Given the description of an element on the screen output the (x, y) to click on. 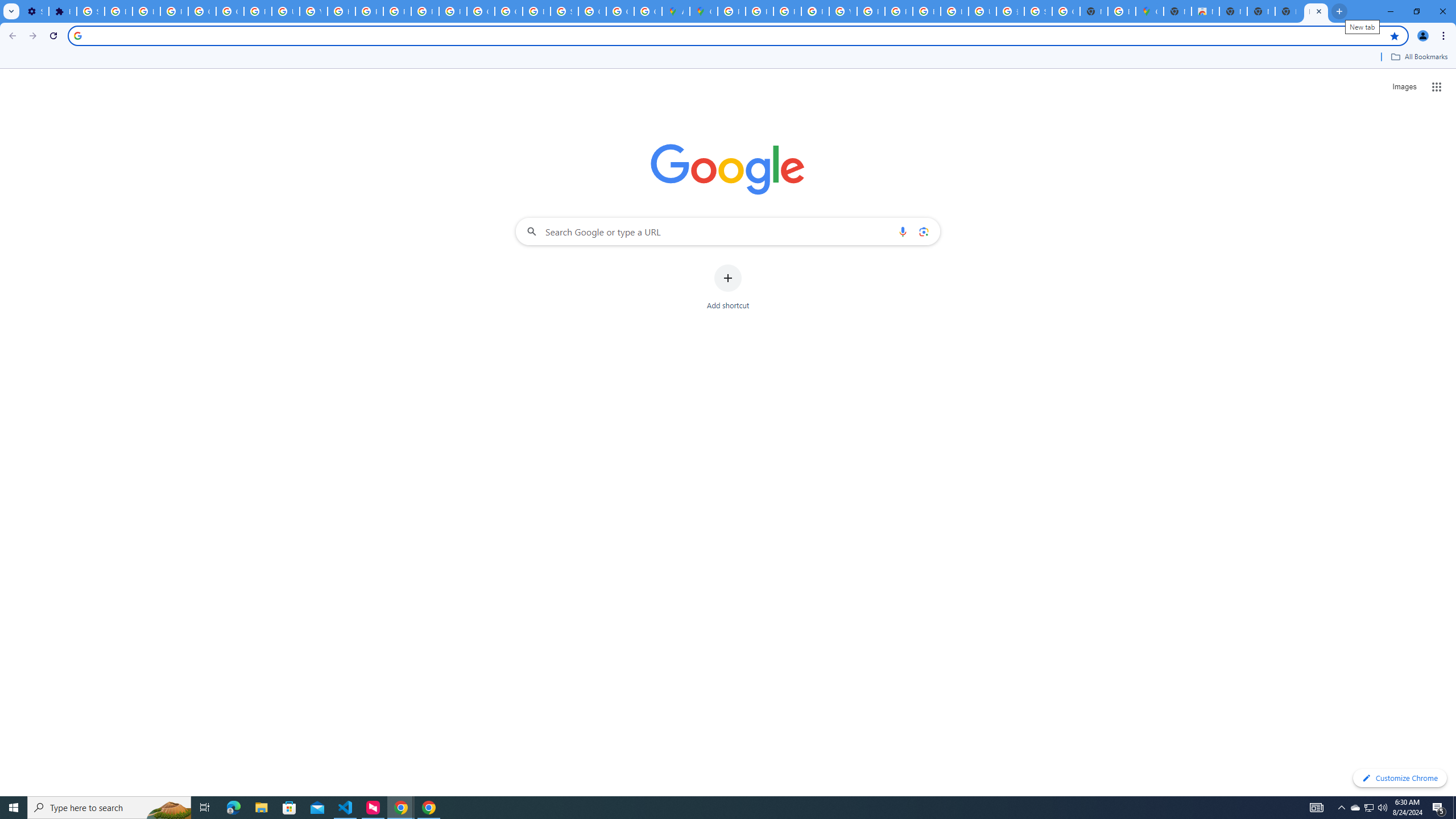
Search by image (922, 230)
Google apps (1436, 86)
Google Maps (1150, 11)
Sign in - Google Accounts (90, 11)
Search Google or type a URL (727, 230)
Privacy Help Center - Policies Help (787, 11)
Settings - On startup (34, 11)
All Bookmarks (1418, 56)
Google Maps (703, 11)
Explore new street-level details - Google Maps Help (1121, 11)
